Given the description of an element on the screen output the (x, y) to click on. 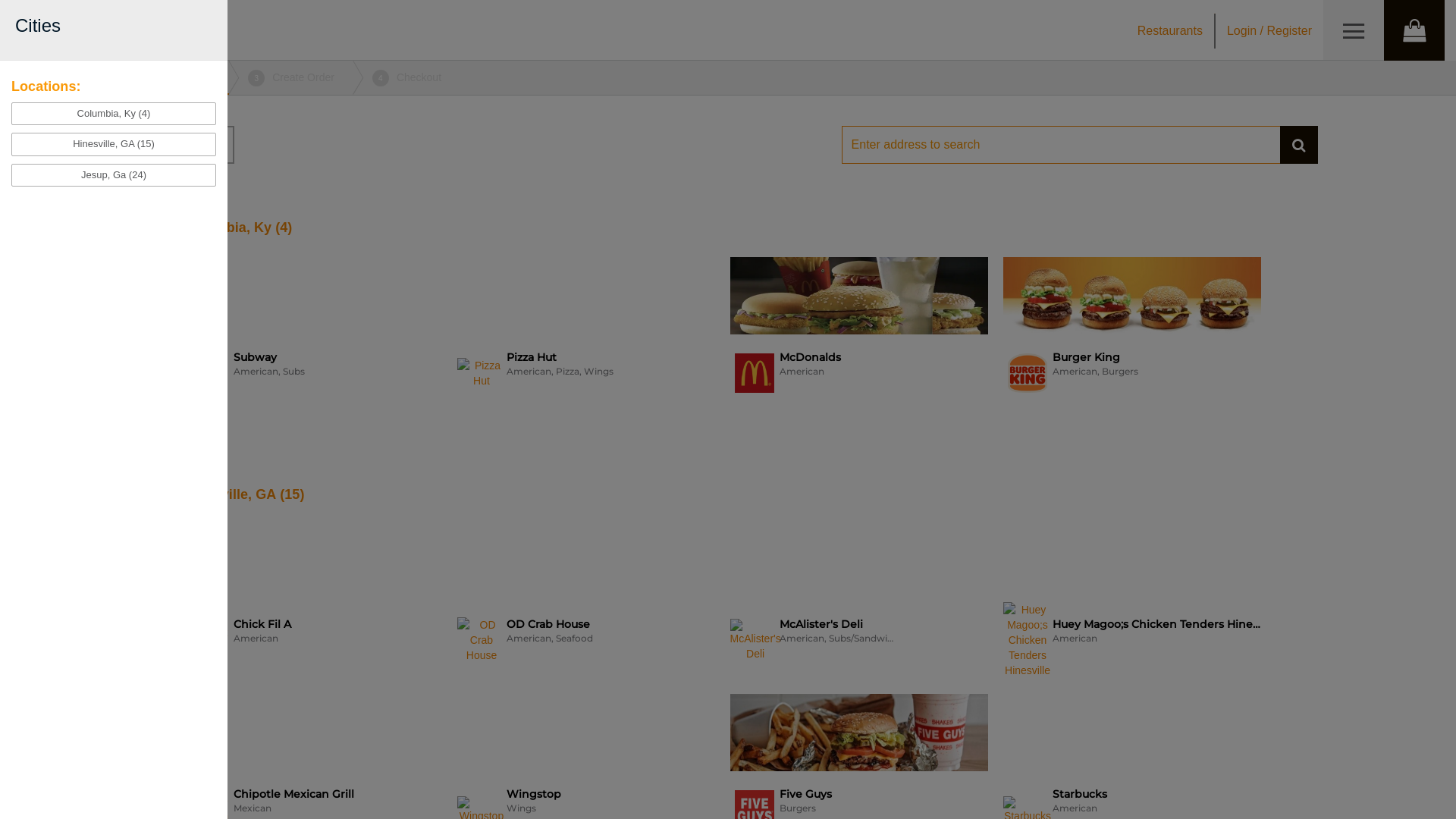
McDonalds Element type: hover (754, 372)
Columbia, Ky (4) Element type: text (113, 113)
Cities Element type: text (126, 144)
McAlister's Deli Element type: hover (754, 639)
Jesup, Ga (24) Element type: text (113, 175)
3
Create Order Element type: text (291, 77)
Huey Magoo;s Chicken Tenders Hinesville Element type: hover (1026, 639)
Pizza Hut
American, Pizza, Wings Element type: text (584, 334)
Columbia, Ky(4) Element type: text (237, 227)
Hinesville, GA (15) Element type: text (113, 144)
McAlister's Deli
American, Subs/Sandwich Element type: text (857, 601)
Pizza Hut Element type: hover (480, 372)
OD Crab House
American, Seafood Element type: text (584, 601)
Burger King Element type: hover (1027, 372)
Chick Fil A  Element type: hover (207, 639)
Subway
American, Subs Element type: text (311, 334)
Burger King
American, Burgers Element type: text (1130, 334)
Hinesville, GA(15) Element type: text (243, 494)
Subway Element type: hover (207, 372)
Login / Register Element type: text (1269, 30)
2
Pick Restaurant Element type: text (160, 77)
Huey Magoo;s Chicken Tenders Hinesville
American Element type: text (1130, 601)
Chick Fil A
American Element type: text (311, 601)
OD Crab House Element type: hover (480, 639)
McDonalds
American Element type: text (857, 334)
Restaurants Element type: text (1170, 30)
4
Checkout Element type: text (406, 77)
